Given the description of an element on the screen output the (x, y) to click on. 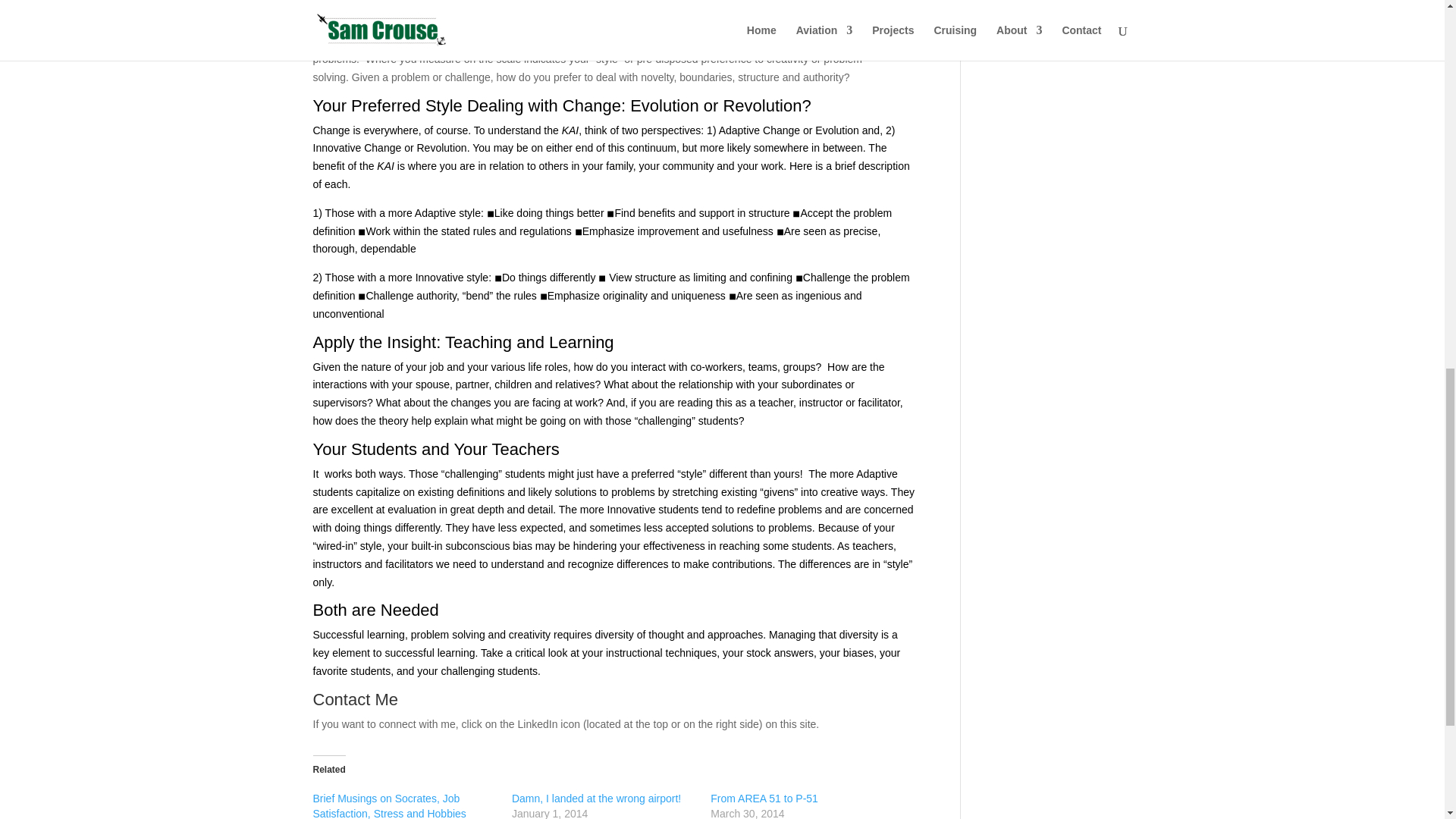
Damn, I landed at the wrong airport! (596, 798)
From AREA 51 to P-51 (764, 798)
From AREA 51 to P-51 (764, 798)
Damn, I landed at the wrong airport! (596, 798)
